Given the description of an element on the screen output the (x, y) to click on. 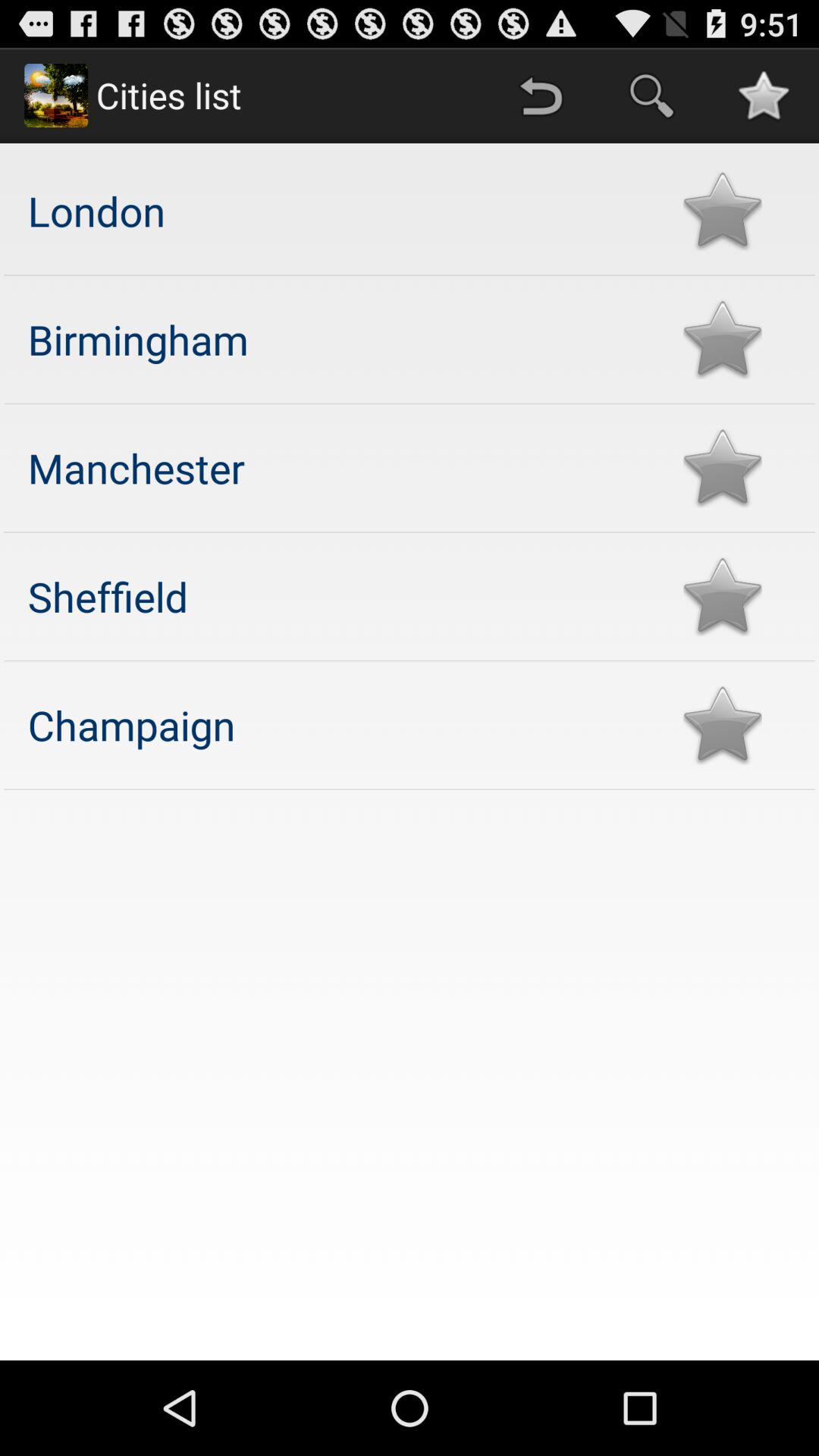
choose champaign app (340, 724)
